Given the description of an element on the screen output the (x, y) to click on. 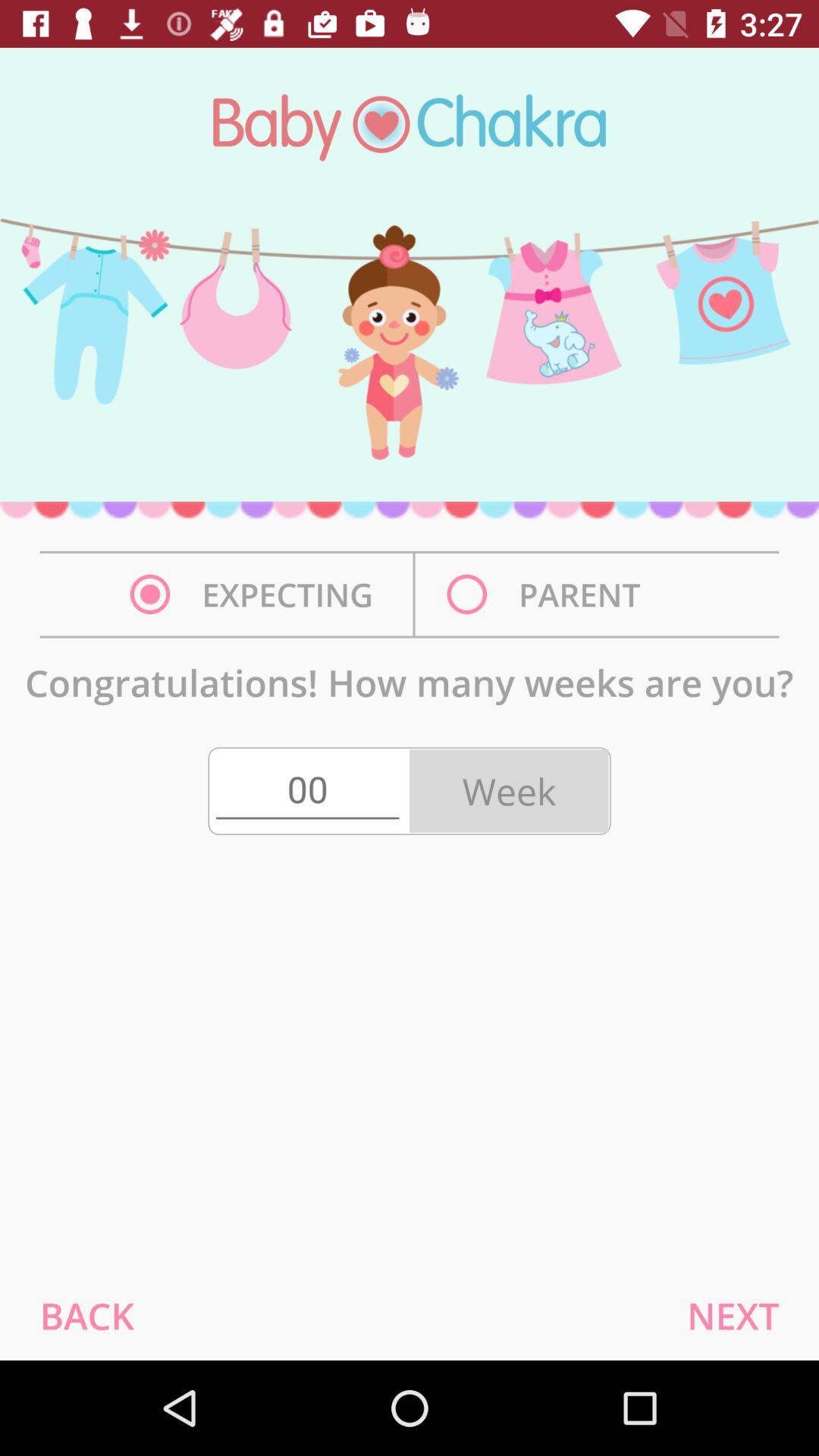
turn on the item next to next icon (86, 1315)
